Given the description of an element on the screen output the (x, y) to click on. 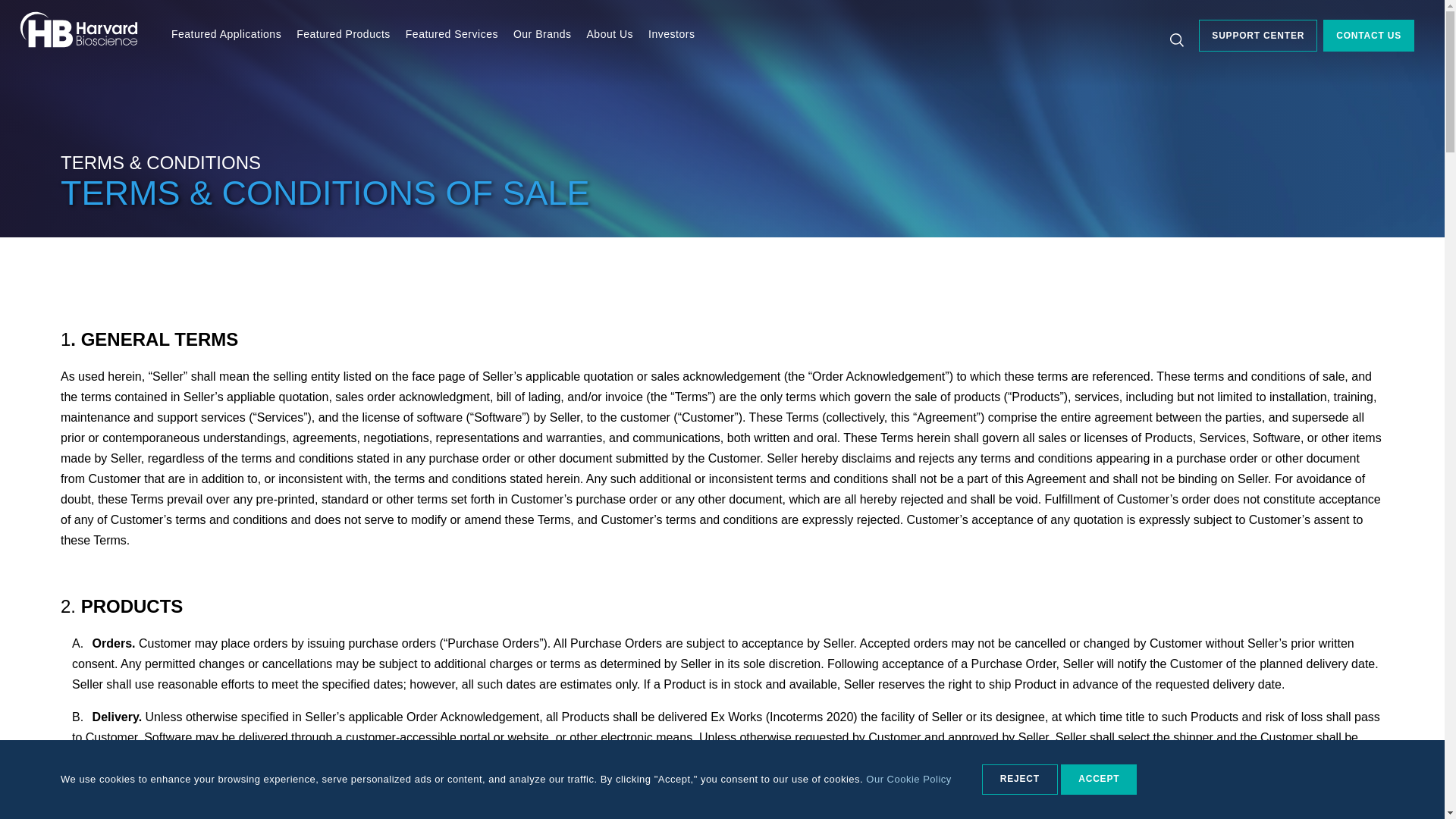
Featured Services (451, 35)
Our Brands (542, 35)
Harvard Bioscience Logo, Home (78, 42)
Featured Applications (226, 35)
Featured Products (343, 35)
About Us (609, 35)
Apply (1084, 53)
